Given the description of an element on the screen output the (x, y) to click on. 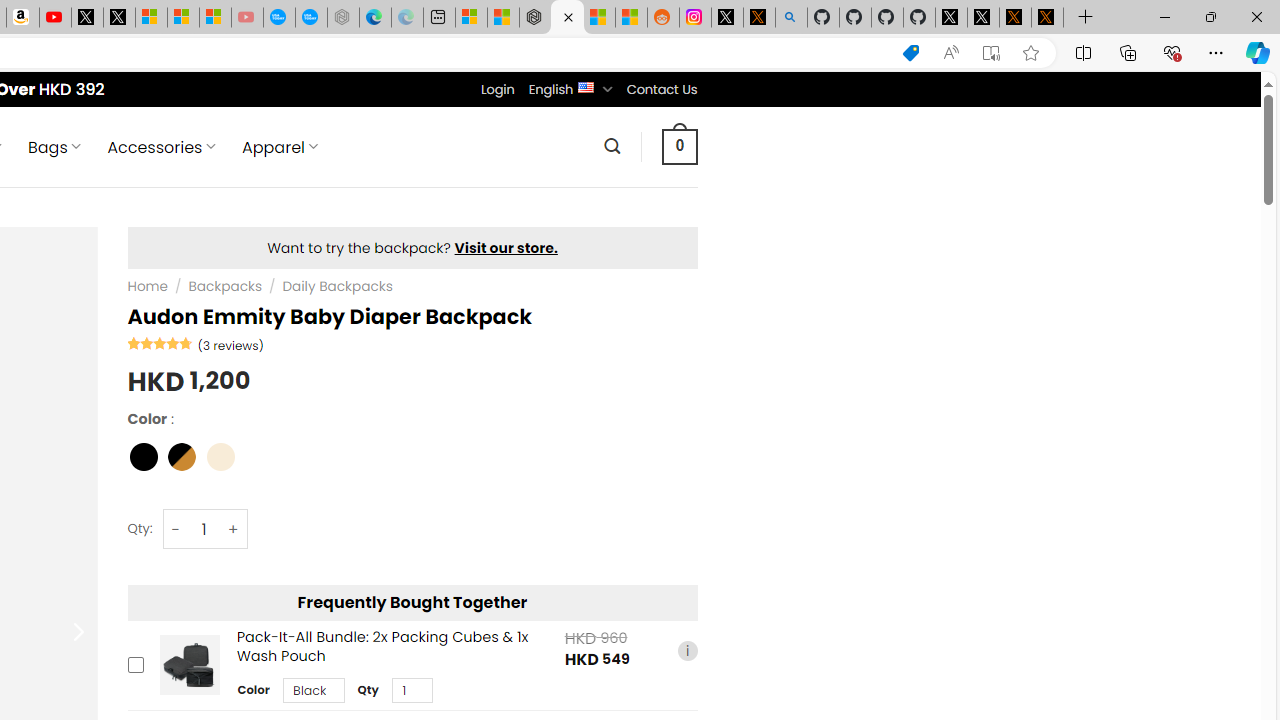
Rated 4.67 out of 5 (160, 342)
Class: upsell-v2-product-upsell-variable-product-qty-select (411, 691)
Enter Immersive Reader (F9) (991, 53)
This site has coupons! Shopping in Microsoft Edge (910, 53)
help.x.com | 524: A timeout occurred (758, 17)
